Given the description of an element on the screen output the (x, y) to click on. 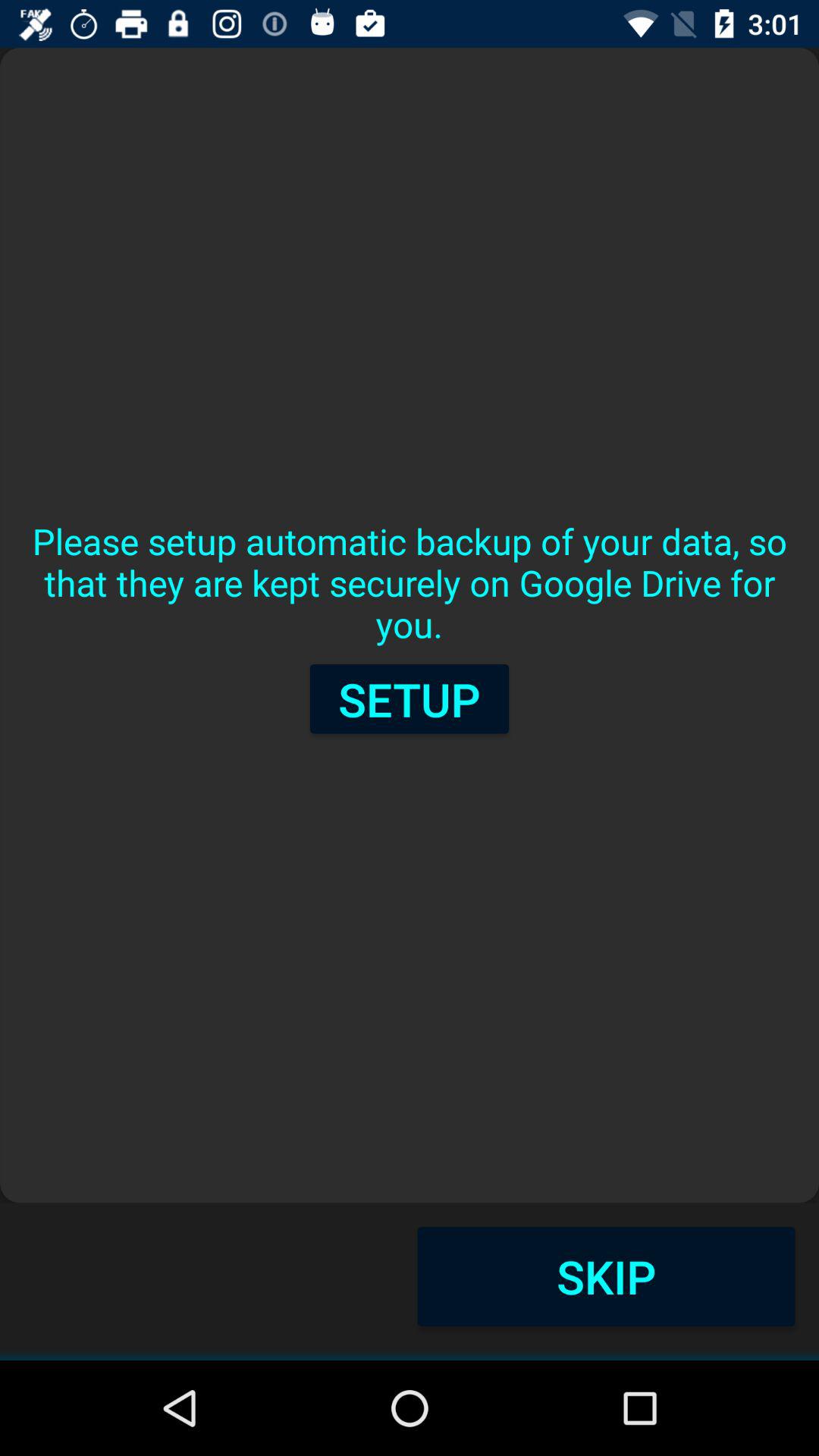
choose the skip item (606, 1276)
